Given the description of an element on the screen output the (x, y) to click on. 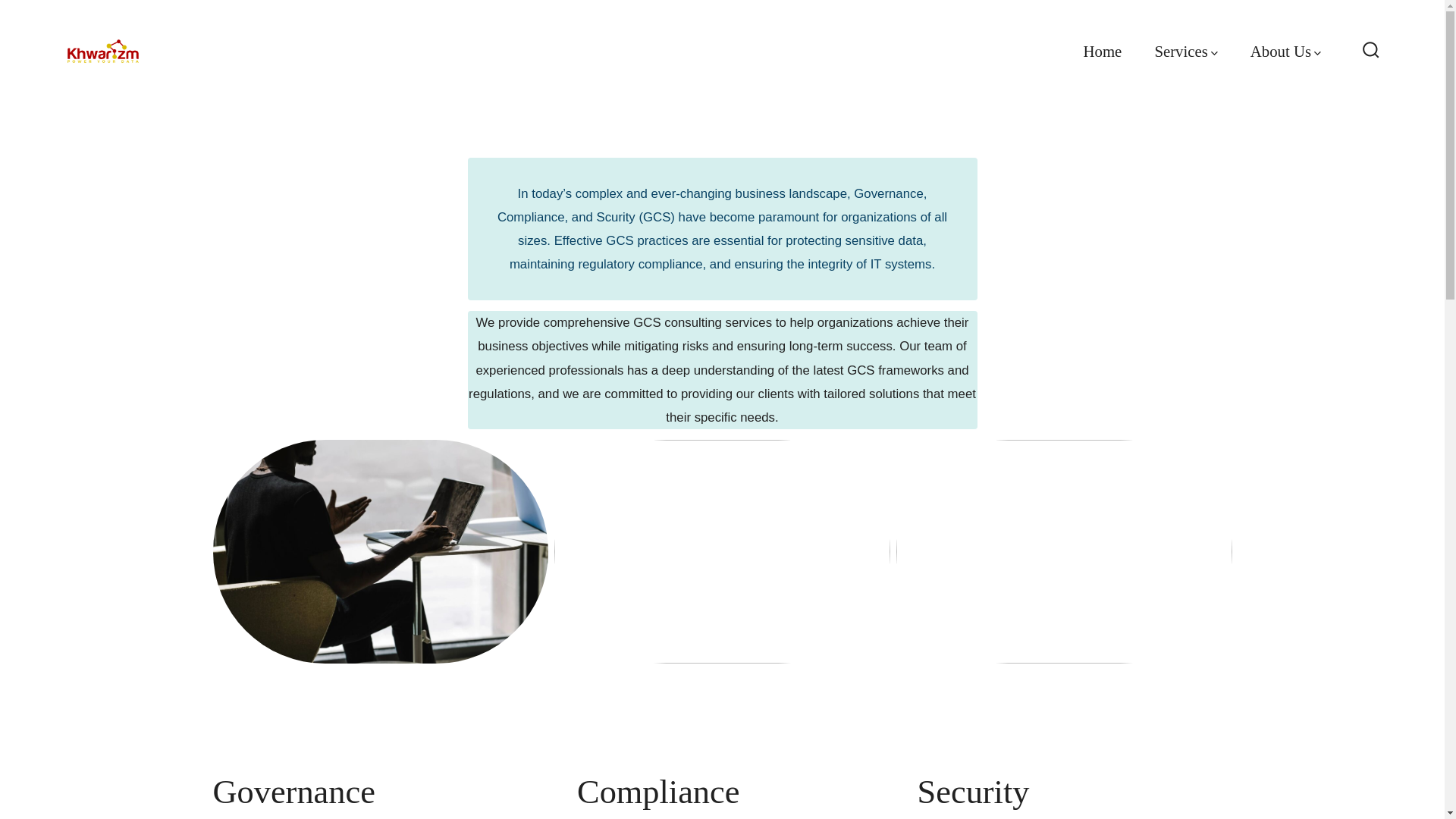
Home (1102, 51)
Services (1185, 51)
Search Toggle (1371, 50)
About Us (1285, 51)
